Given the description of an element on the screen output the (x, y) to click on. 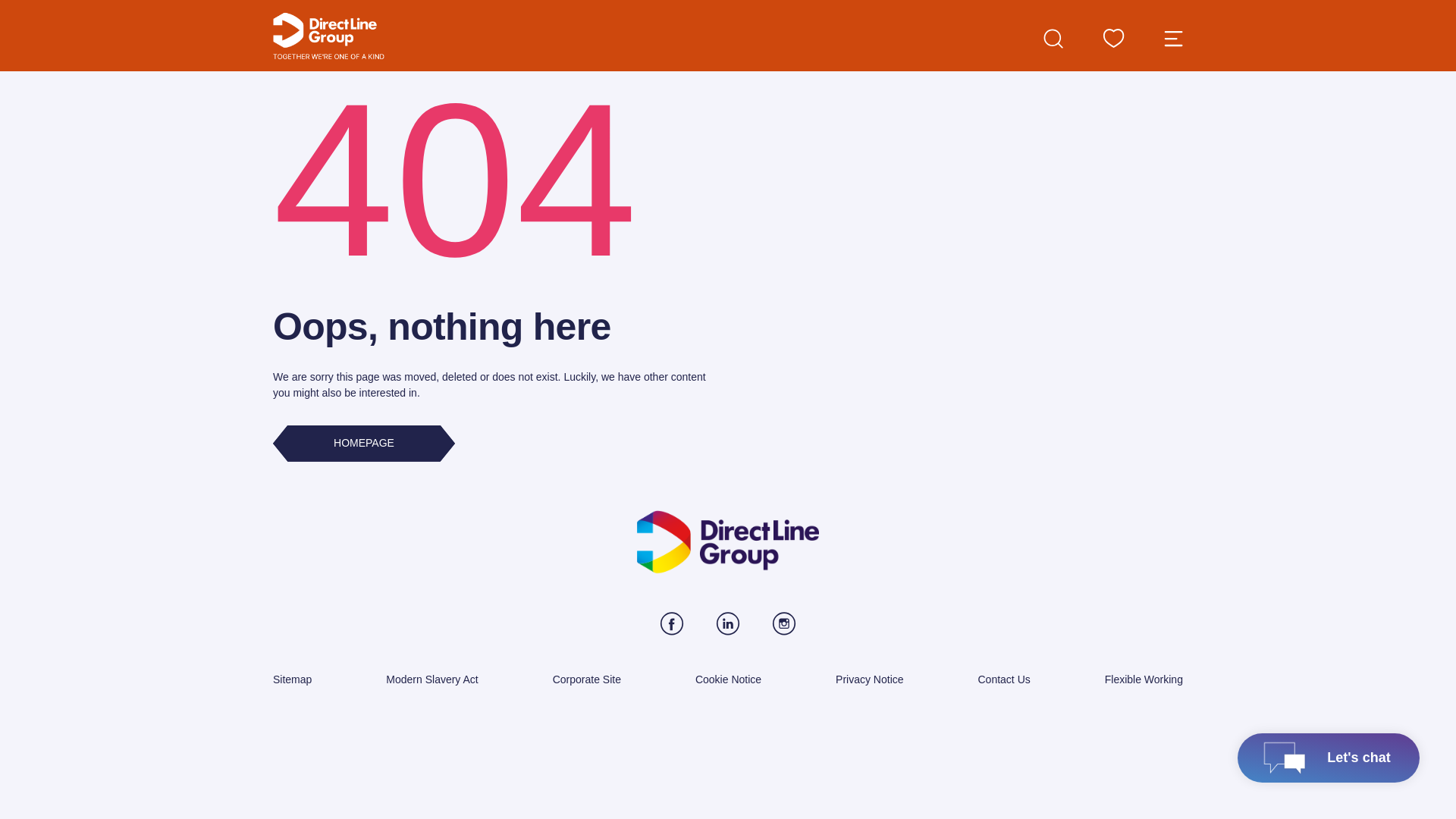
Flexible Working (1143, 679)
HOMEPAGE (363, 443)
Cookie Notice (728, 679)
Contact Us (1004, 679)
Saved Jobs page. You have 0 saved jobs (1113, 38)
Corporate Site (587, 679)
Let's chat (1328, 757)
Sitemap (292, 679)
Privacy Notice (868, 679)
Modern Slavery Act (431, 679)
